Given the description of an element on the screen output the (x, y) to click on. 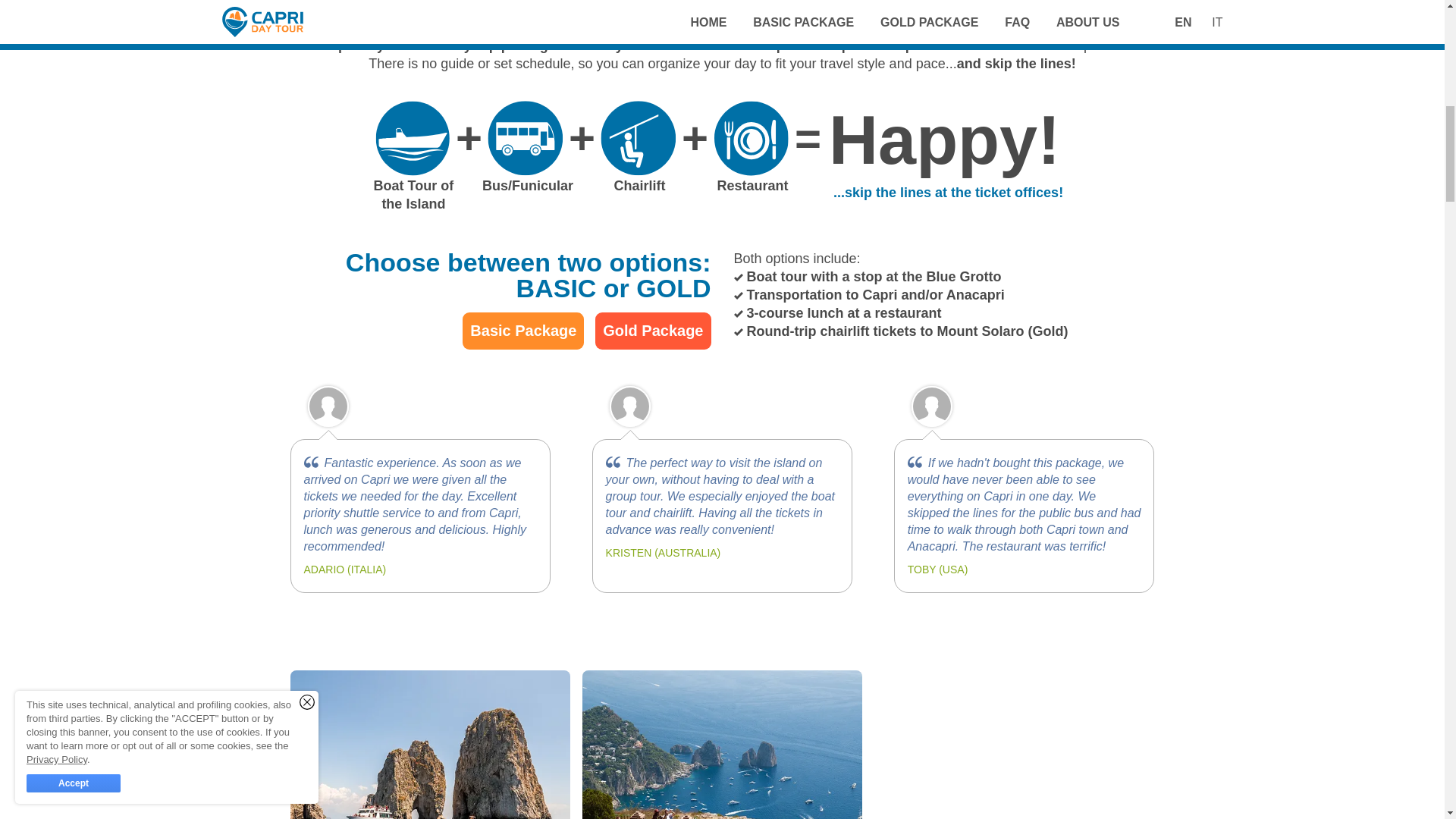
Basic Package (523, 330)
Gold Package (652, 330)
